Given the description of an element on the screen output the (x, y) to click on. 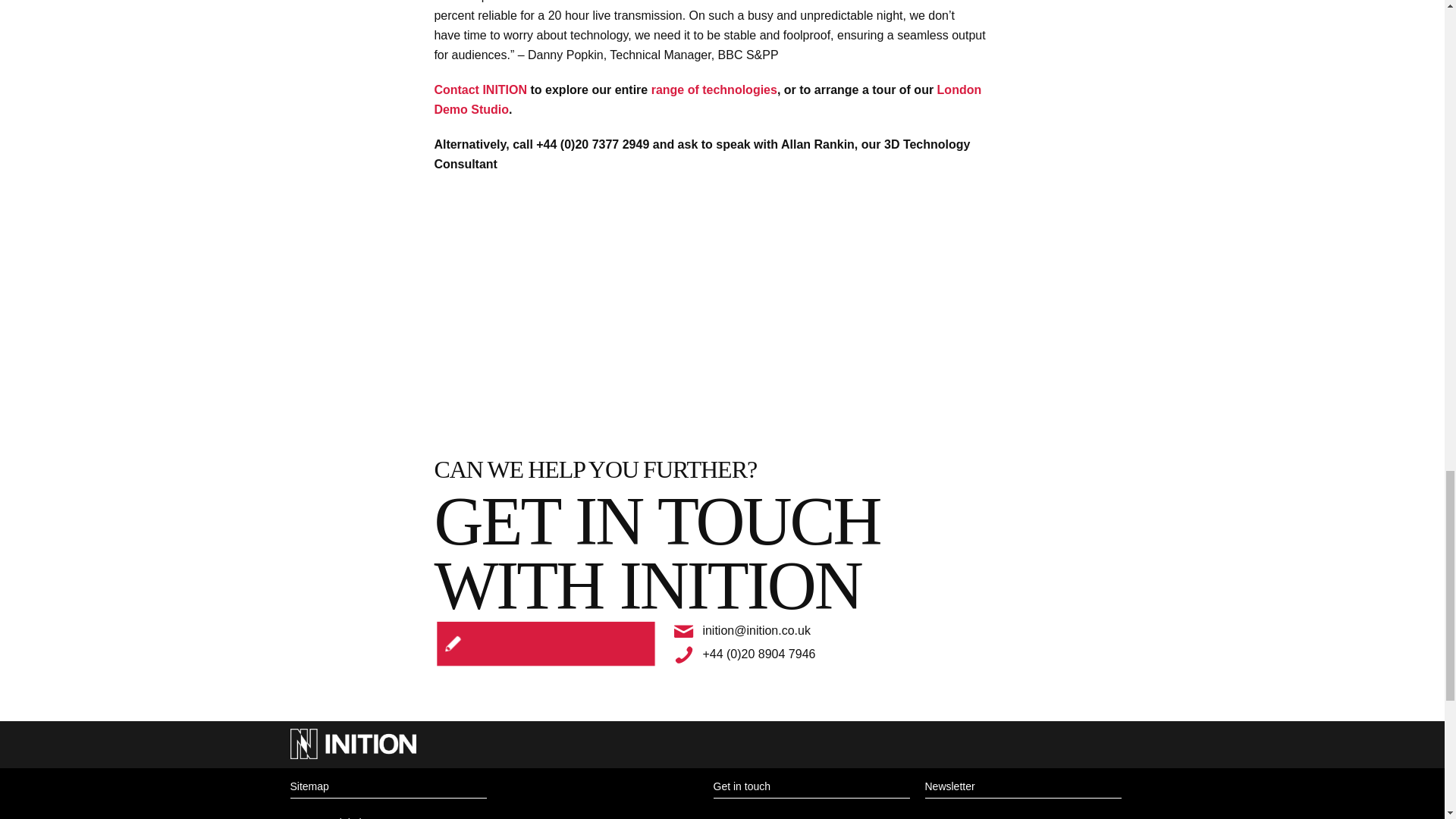
range of technologies (713, 89)
2 (456, 636)
London Demo Studio (707, 99)
Inition (351, 756)
INITION: Contact Us (480, 89)
INITION London: Demo Studio (707, 99)
1 (456, 653)
Subscribe (622, 645)
Contact INITION (480, 89)
Subscribe (622, 645)
